Given the description of an element on the screen output the (x, y) to click on. 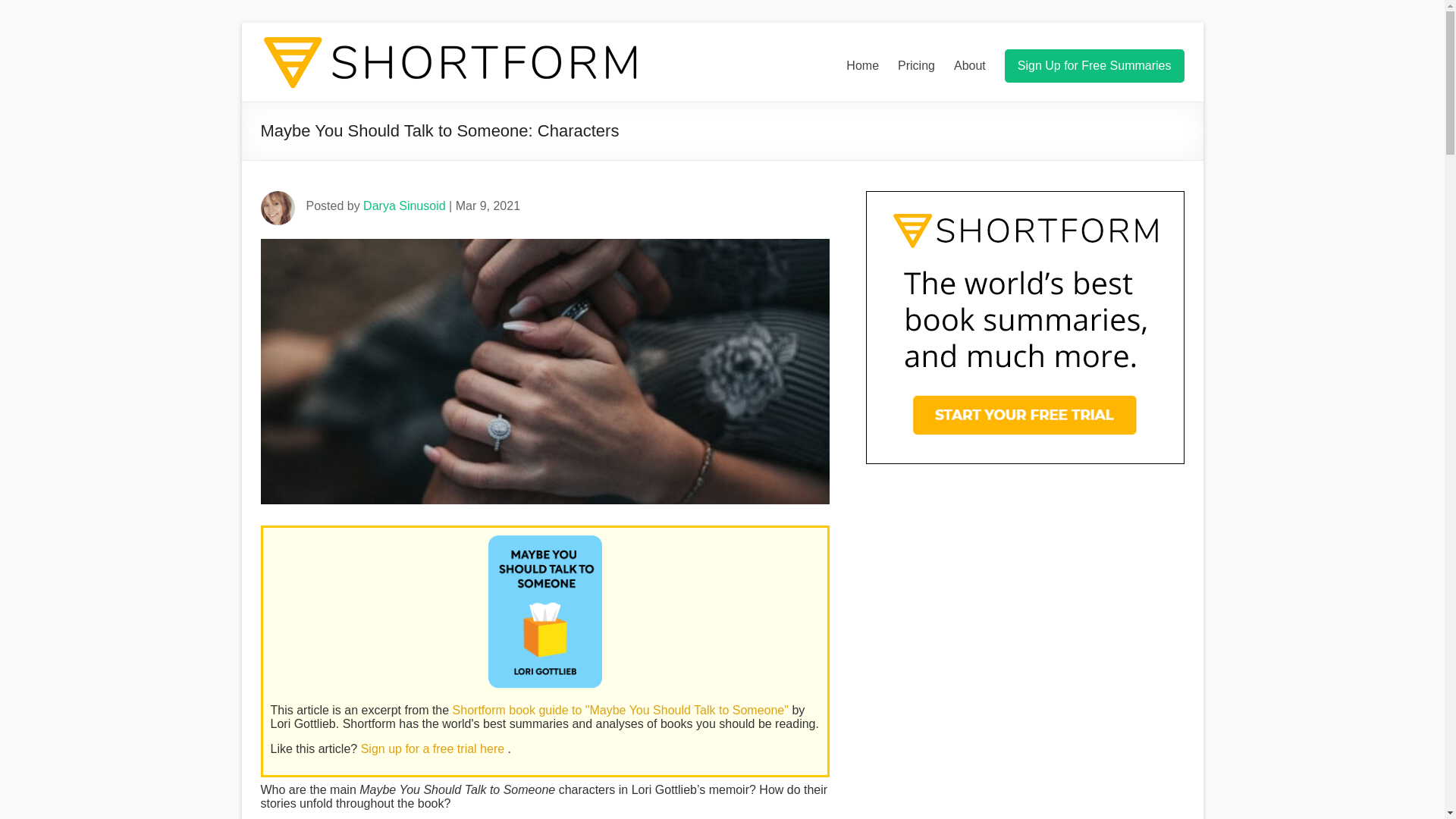
Shortform book guide to "Maybe You Should Talk to Someone" (622, 709)
Sign up for a free trial here (434, 748)
Sign Up for Free Summaries (1094, 65)
Home (862, 65)
Pricing (916, 65)
Darya Sinusoid (403, 205)
About (969, 65)
